Given the description of an element on the screen output the (x, y) to click on. 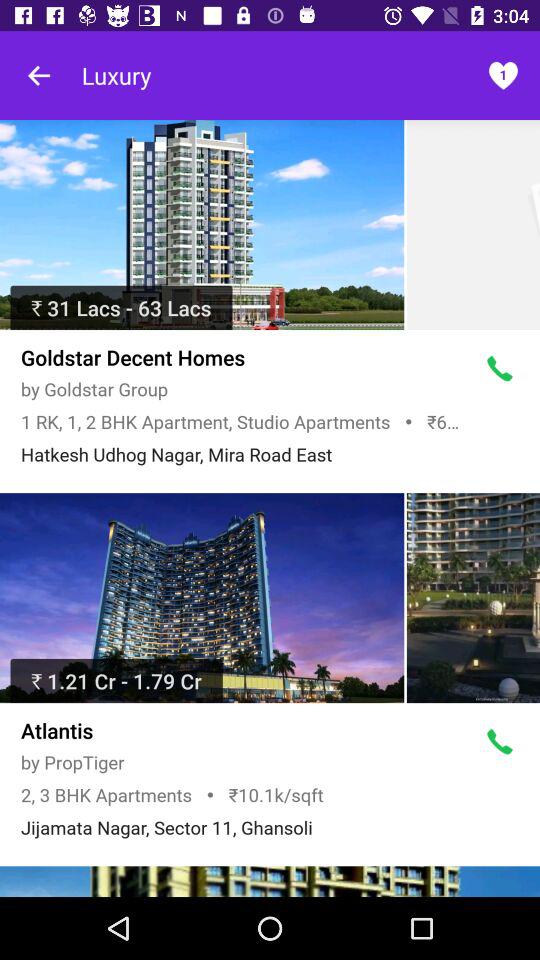
select the text luxury on page (116, 75)
select call button which is after atlantis (500, 742)
